Given the description of an element on the screen output the (x, y) to click on. 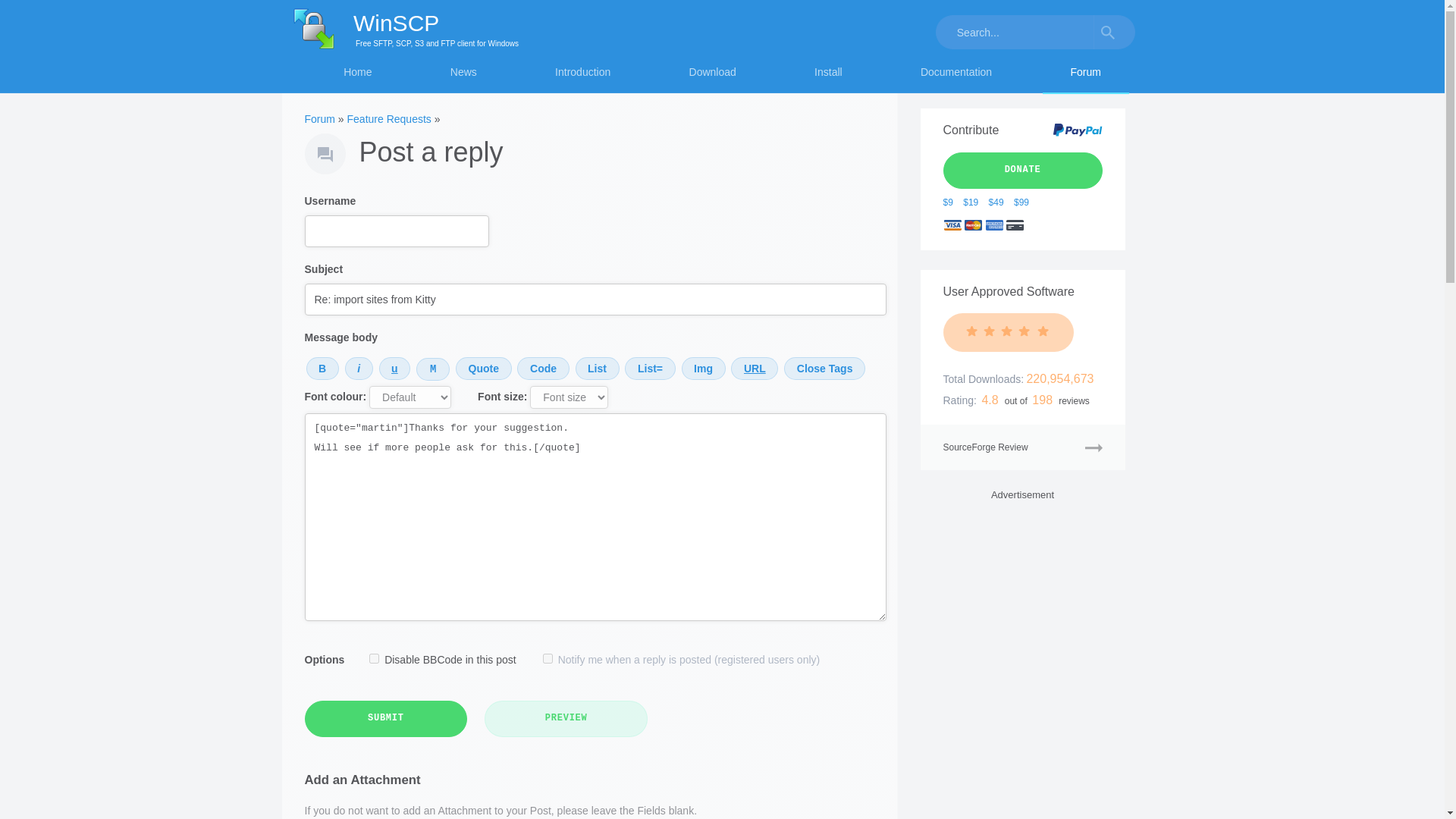
Close all open bbCode tags (824, 368)
on (548, 658)
Code (542, 368)
Forum (319, 119)
Install (827, 75)
Download (712, 75)
Home (358, 75)
Introduction (582, 75)
B (322, 368)
Feature Requests (388, 119)
Quote (483, 368)
Img (703, 368)
URL (753, 368)
i (358, 368)
Forum (1085, 75)
